Given the description of an element on the screen output the (x, y) to click on. 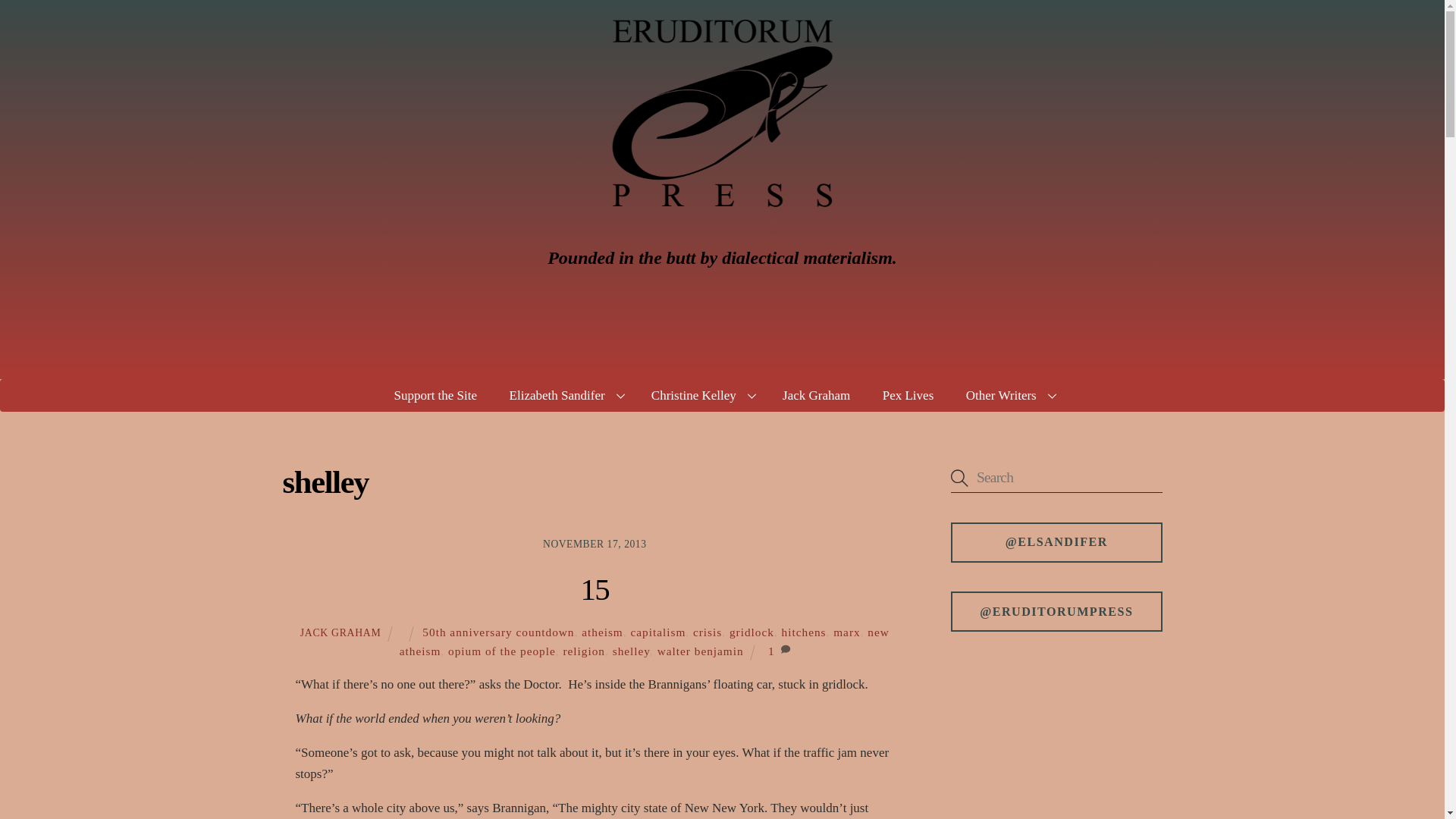
JACK GRAHAM (340, 632)
Christine Kelley (700, 395)
Search (1055, 477)
Support the Site (435, 395)
Other Writers (1008, 395)
hitchens (804, 631)
crisis (707, 631)
marx (846, 631)
Jack Graham (816, 395)
Elizabeth Sandifer (563, 395)
gridlock (751, 631)
opium of the people (502, 650)
50th anniversary countdown (497, 631)
Pex Lives (907, 395)
capitalism (657, 631)
